Given the description of an element on the screen output the (x, y) to click on. 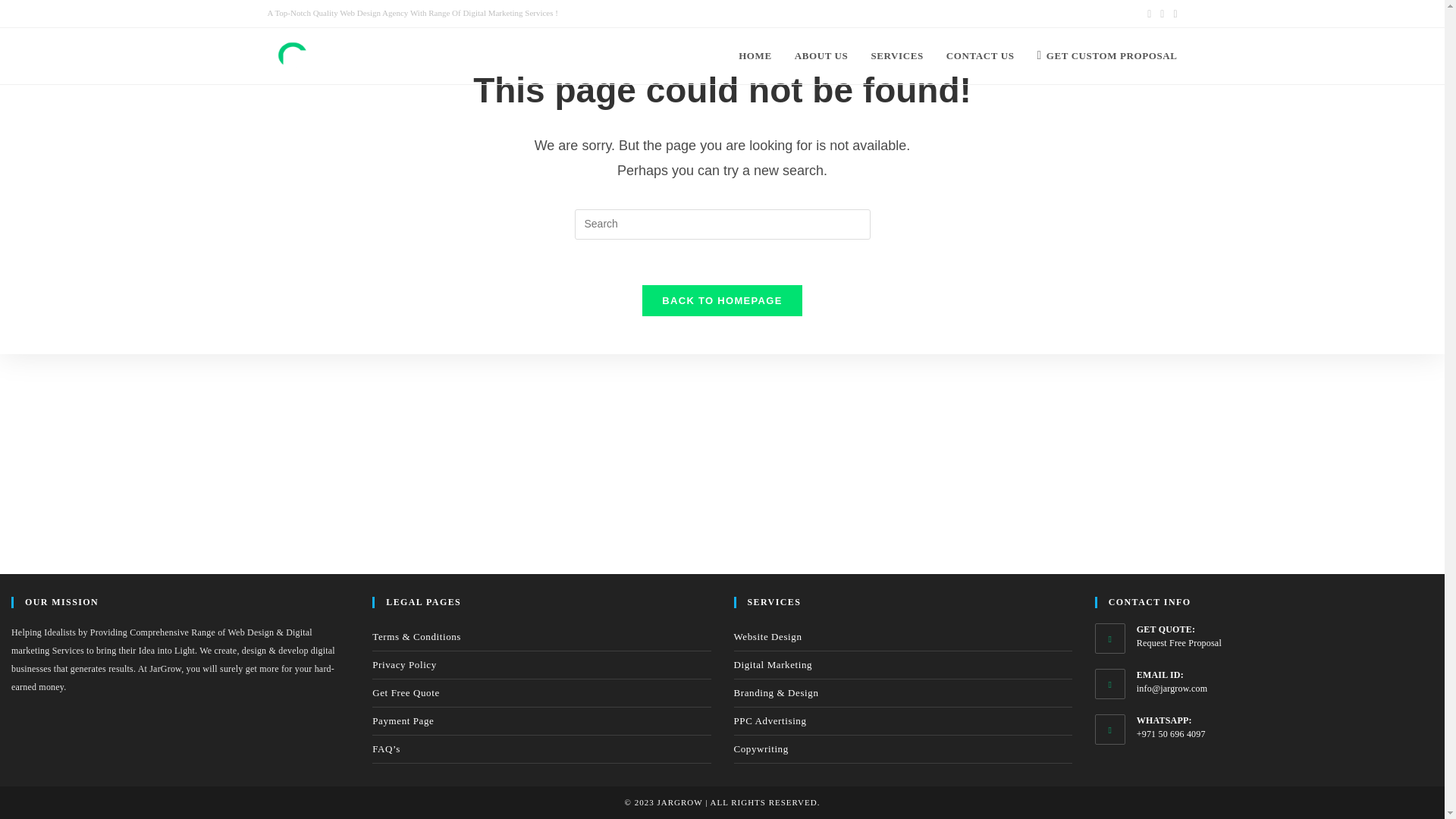
CONTACT US (980, 55)
GET CUSTOM PROPOSAL (1106, 55)
HOME (754, 55)
ABOUT US (821, 55)
BACK TO HOMEPAGE (722, 300)
SERVICES (896, 55)
